Given the description of an element on the screen output the (x, y) to click on. 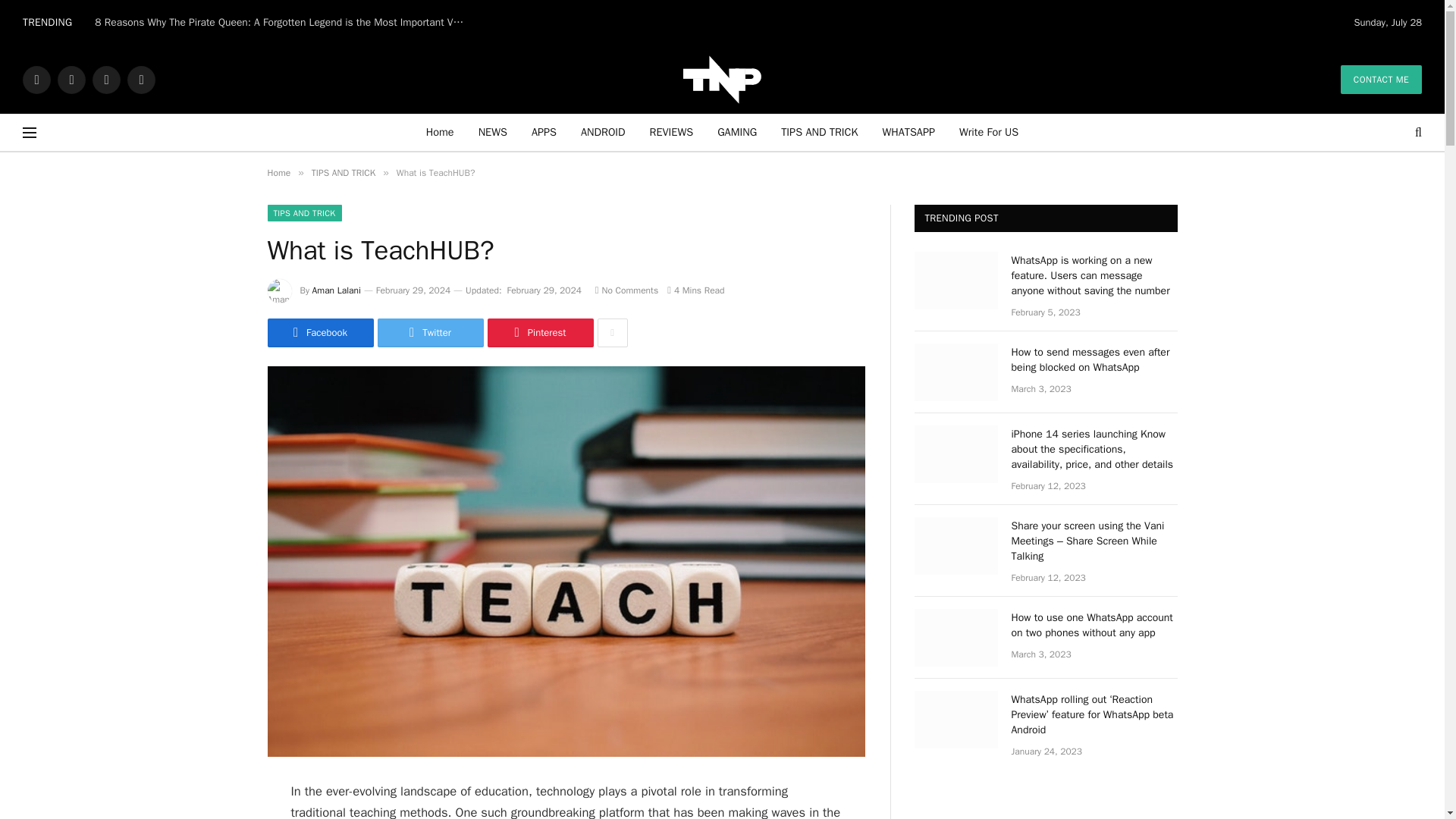
APPS (544, 132)
NEWS (492, 132)
GAMING (736, 132)
Home (439, 132)
TIPS AND TRICK (818, 132)
ANDROID (603, 132)
WHATSAPP (908, 132)
Instagram (106, 79)
TechNewzTOP (722, 79)
Share on Pinterest (539, 332)
WhatsApp (141, 79)
Facebook (36, 79)
REVIEWS (671, 132)
Show More Social Sharing (611, 332)
